Given the description of an element on the screen output the (x, y) to click on. 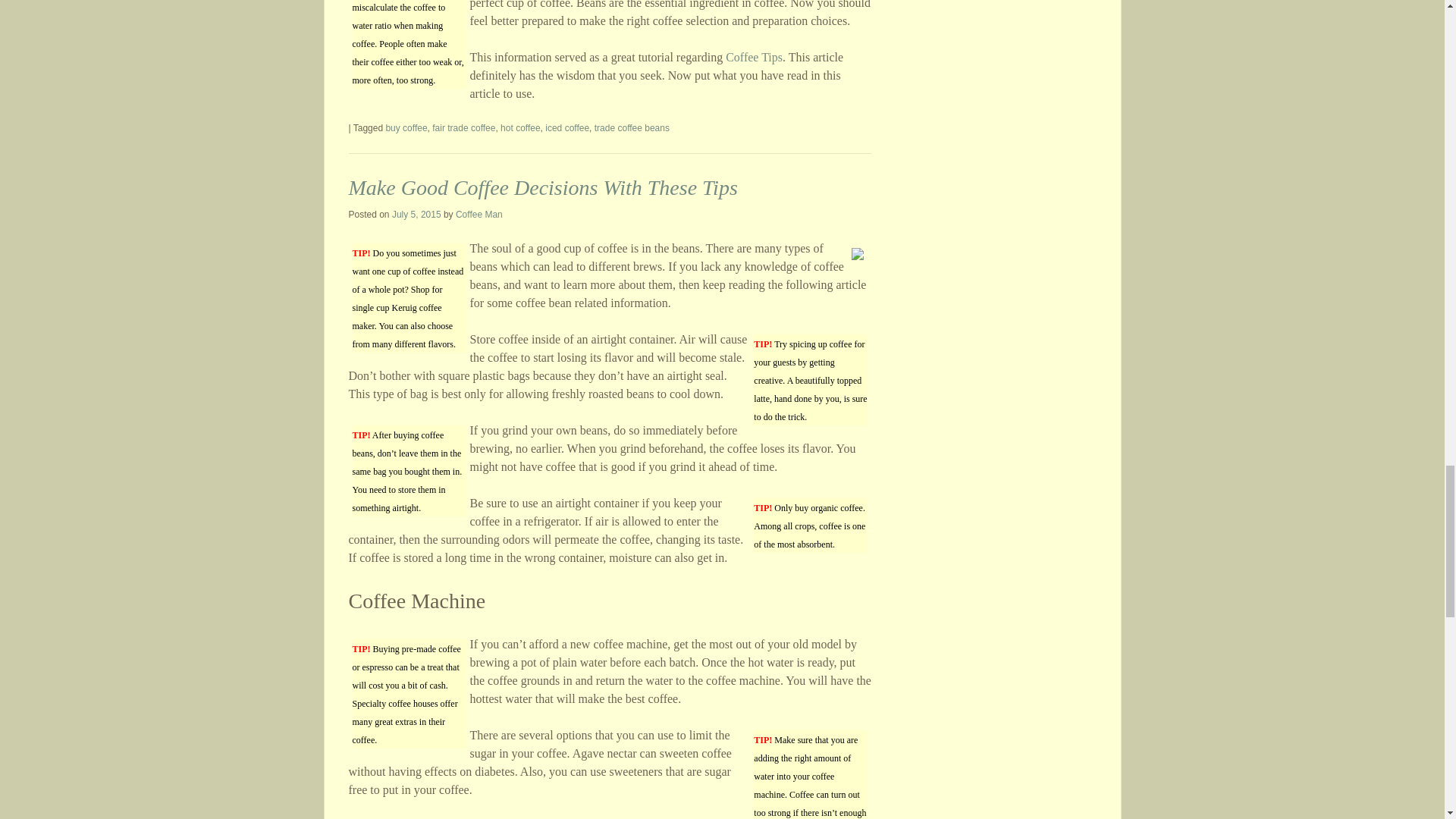
Permalink (543, 187)
View all posts by Coffee Man (478, 214)
6:52 am (416, 214)
